Given the description of an element on the screen output the (x, y) to click on. 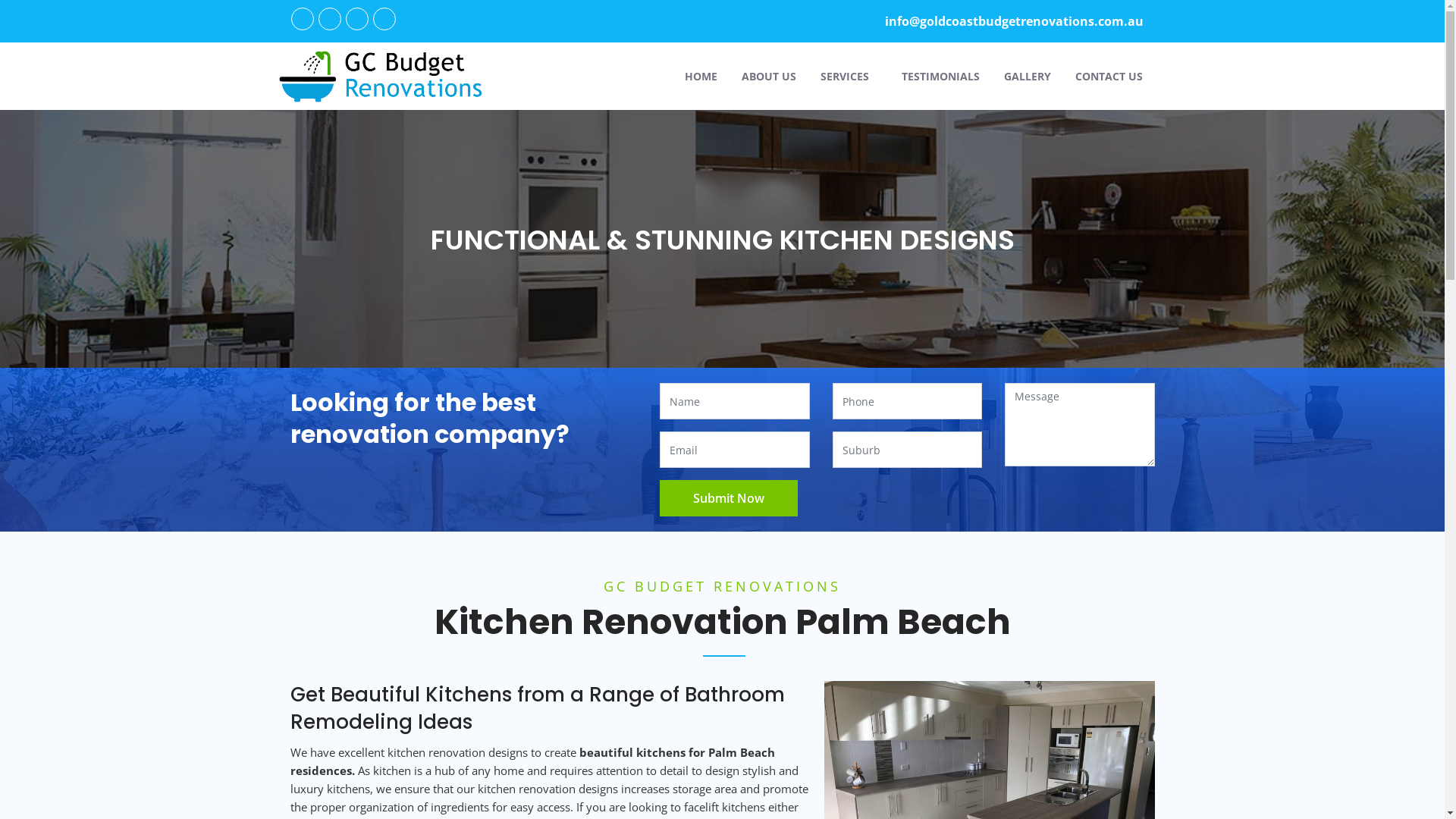
GALLERY Element type: text (1027, 76)
Submit Now Element type: text (728, 498)
Pinterest Element type: hover (356, 18)
HOME Element type: text (699, 76)
SERVICES Element type: text (848, 76)
Twitter Element type: hover (329, 18)
ABOUT US Element type: text (768, 76)
Facebook Element type: hover (302, 18)
TESTIMONIALS Element type: text (939, 76)
CONTACT US Element type: text (1108, 76)
Instagram Element type: hover (384, 18)
info@goldcoastbudgetrenovations.com.au Element type: text (1010, 20)
